Given the description of an element on the screen output the (x, y) to click on. 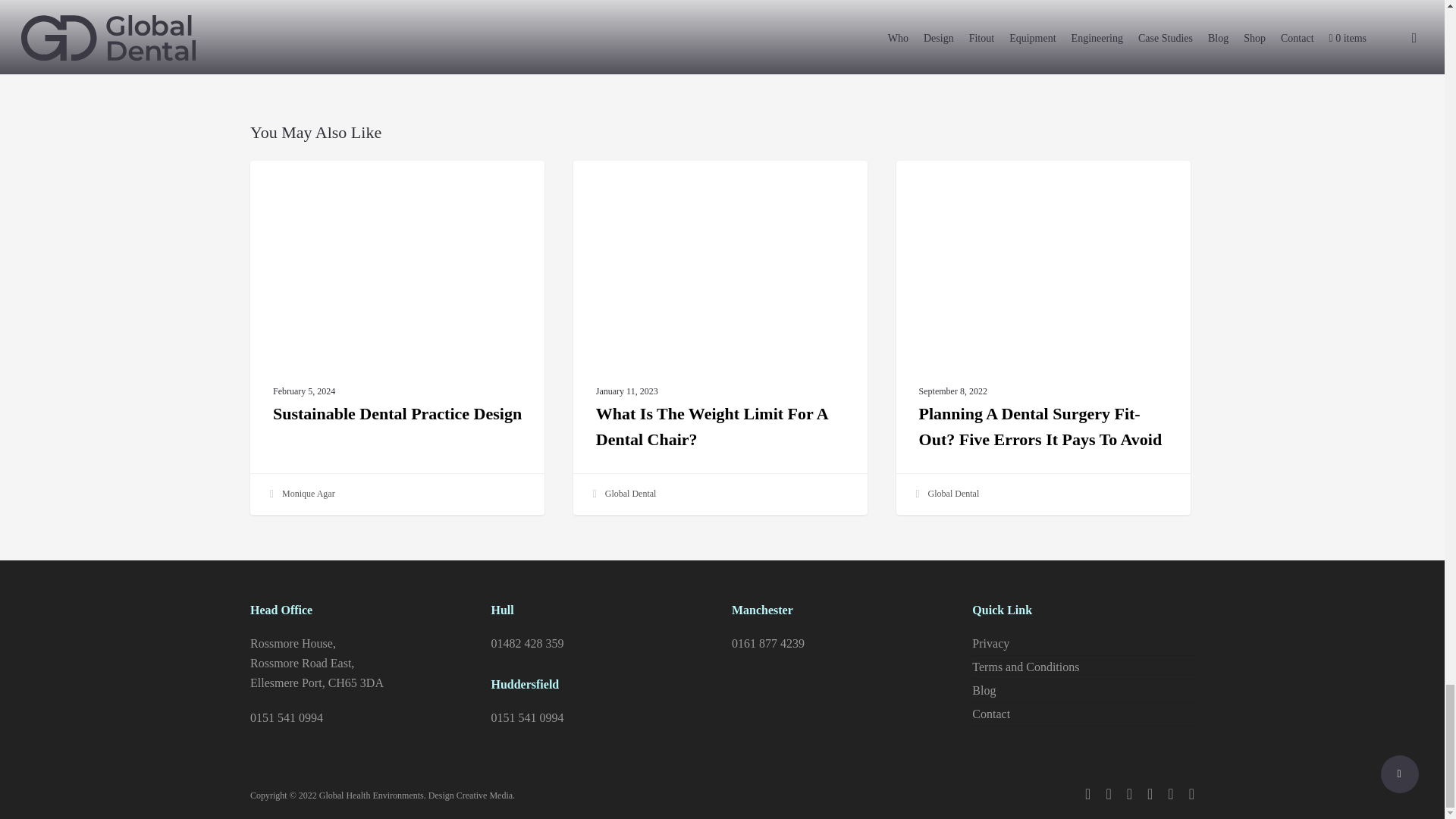
Global Dental (622, 493)
DENTAL INDUSTRY (963, 185)
DENTAL INDUSTRY (316, 185)
DENTAL INDUSTRY (640, 185)
Monique Agar (300, 493)
Global Dental (945, 493)
